Given the description of an element on the screen output the (x, y) to click on. 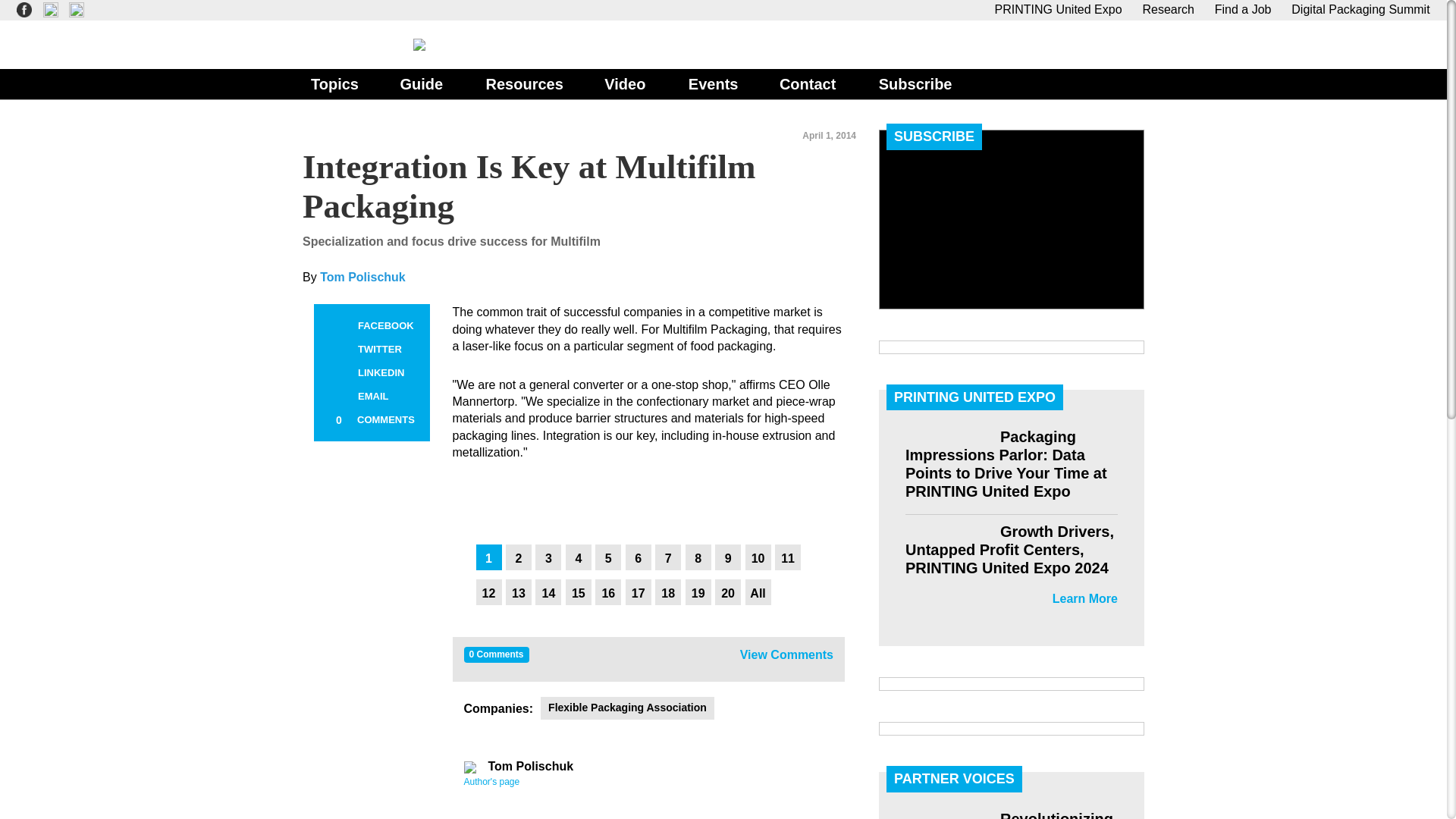
Video (624, 83)
Subscribe (914, 83)
Email Link (339, 396)
Find a Job (1242, 9)
Facebook (339, 325)
Topics (333, 83)
Research (1167, 9)
Resources (523, 83)
Twitter (339, 349)
Contact (807, 83)
